Given the description of an element on the screen output the (x, y) to click on. 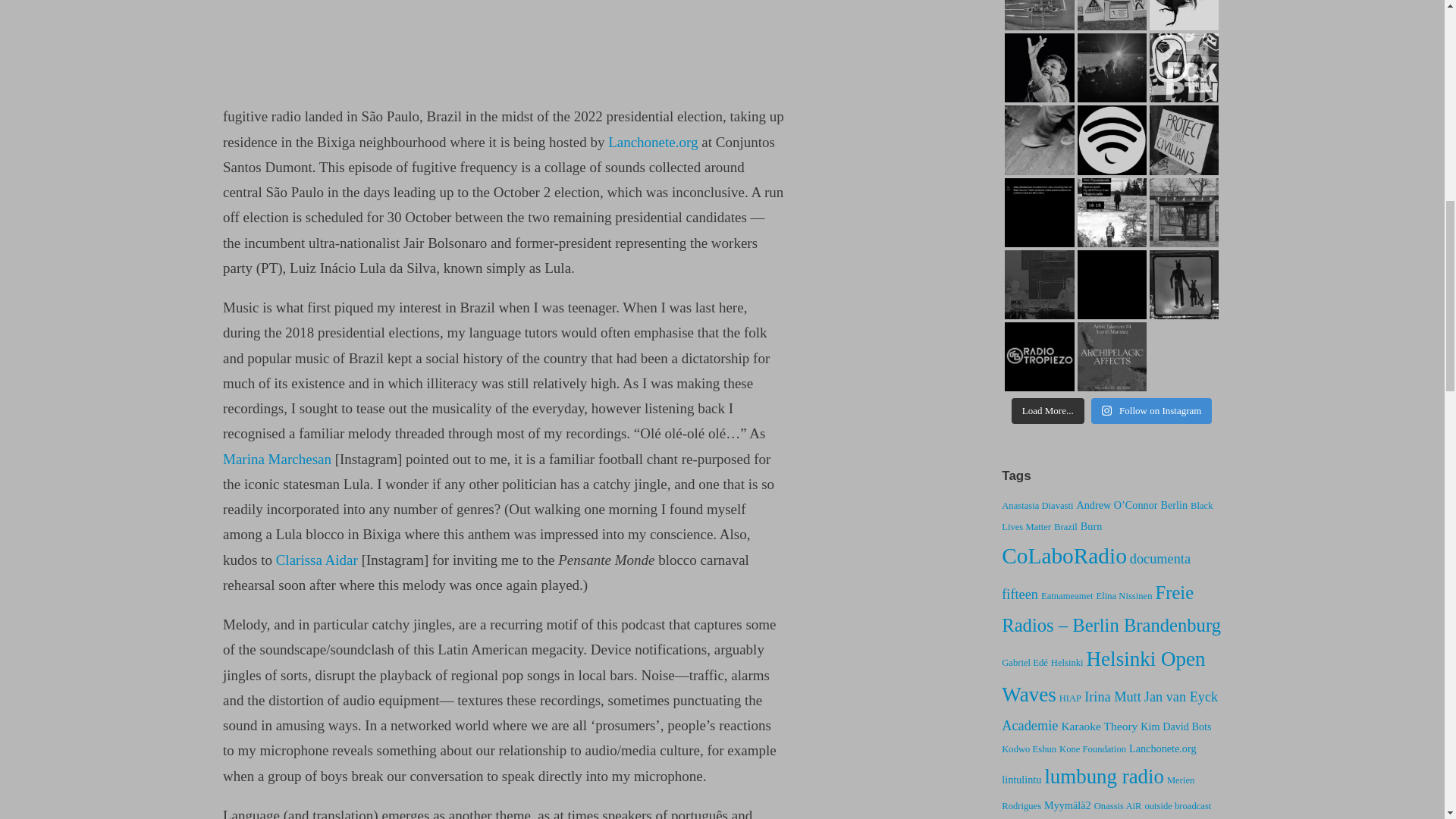
Marina Marchesan (276, 458)
Lanchonete.org (652, 141)
Clarissa Aidar (317, 560)
